Given the description of an element on the screen output the (x, y) to click on. 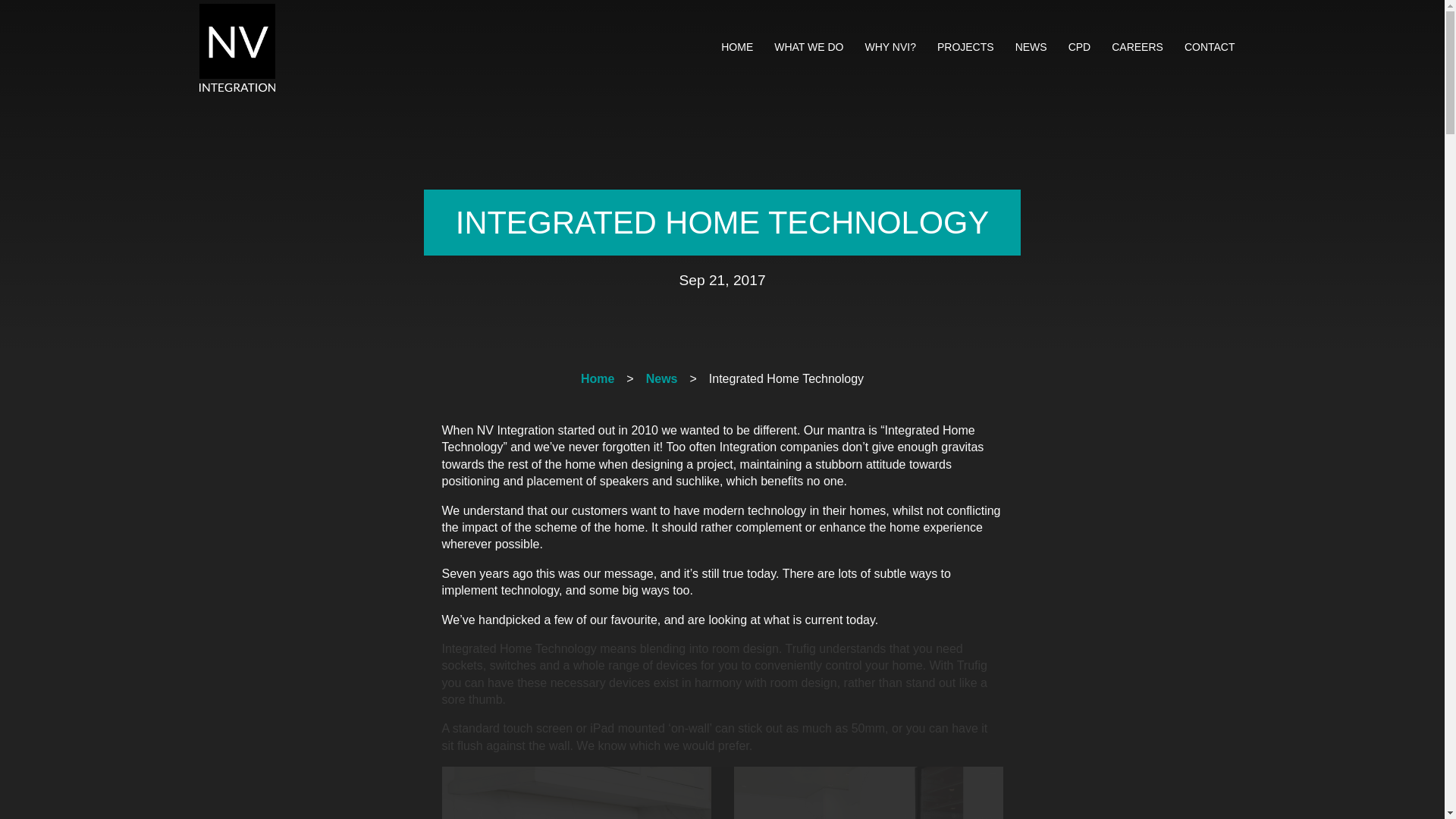
HOME (736, 47)
News (662, 378)
Home (597, 378)
CAREERS (1136, 47)
WHAT WE DO (807, 47)
NEWS (1031, 47)
CONTACT (1209, 47)
CPD (1080, 47)
PROJECTS (965, 47)
WHY NVI? (889, 47)
